Given the description of an element on the screen output the (x, y) to click on. 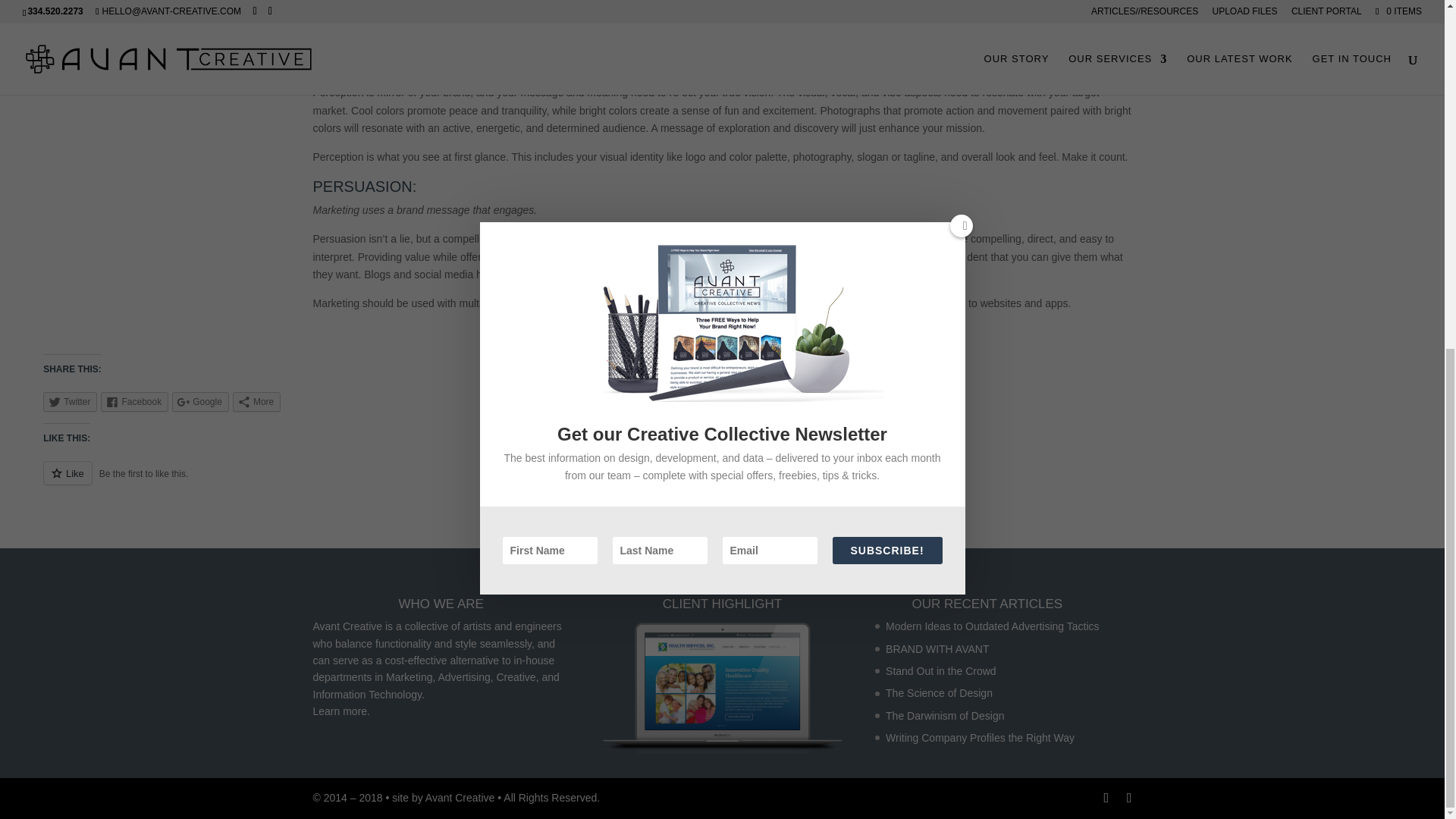
Click to share on Facebook (134, 401)
Click to share on Twitter (70, 401)
Twitter (70, 401)
Facebook (134, 401)
Google (199, 401)
